Given the description of an element on the screen output the (x, y) to click on. 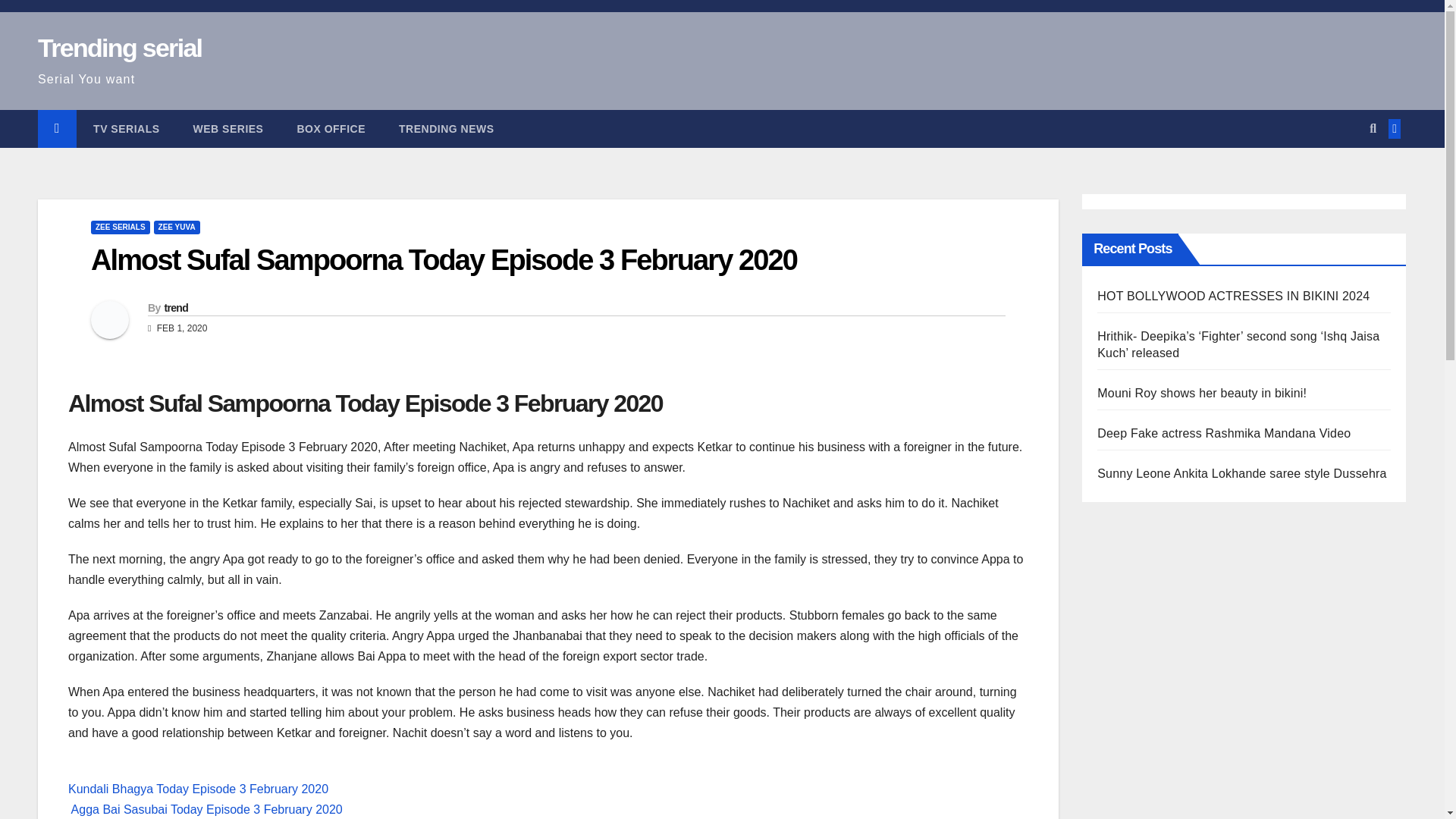
ZEE YUVA (177, 227)
Trending serial (119, 47)
Web Series (228, 128)
TRENDING NEWS (446, 128)
BOX OFFICE (330, 128)
TV SERIALS (126, 128)
ZEE SERIALS (119, 227)
Almost Sufal Sampoorna Today Episode 3 February 2020 (443, 260)
BOX OFFICE (330, 128)
WEB SERIES (228, 128)
